Given the description of an element on the screen output the (x, y) to click on. 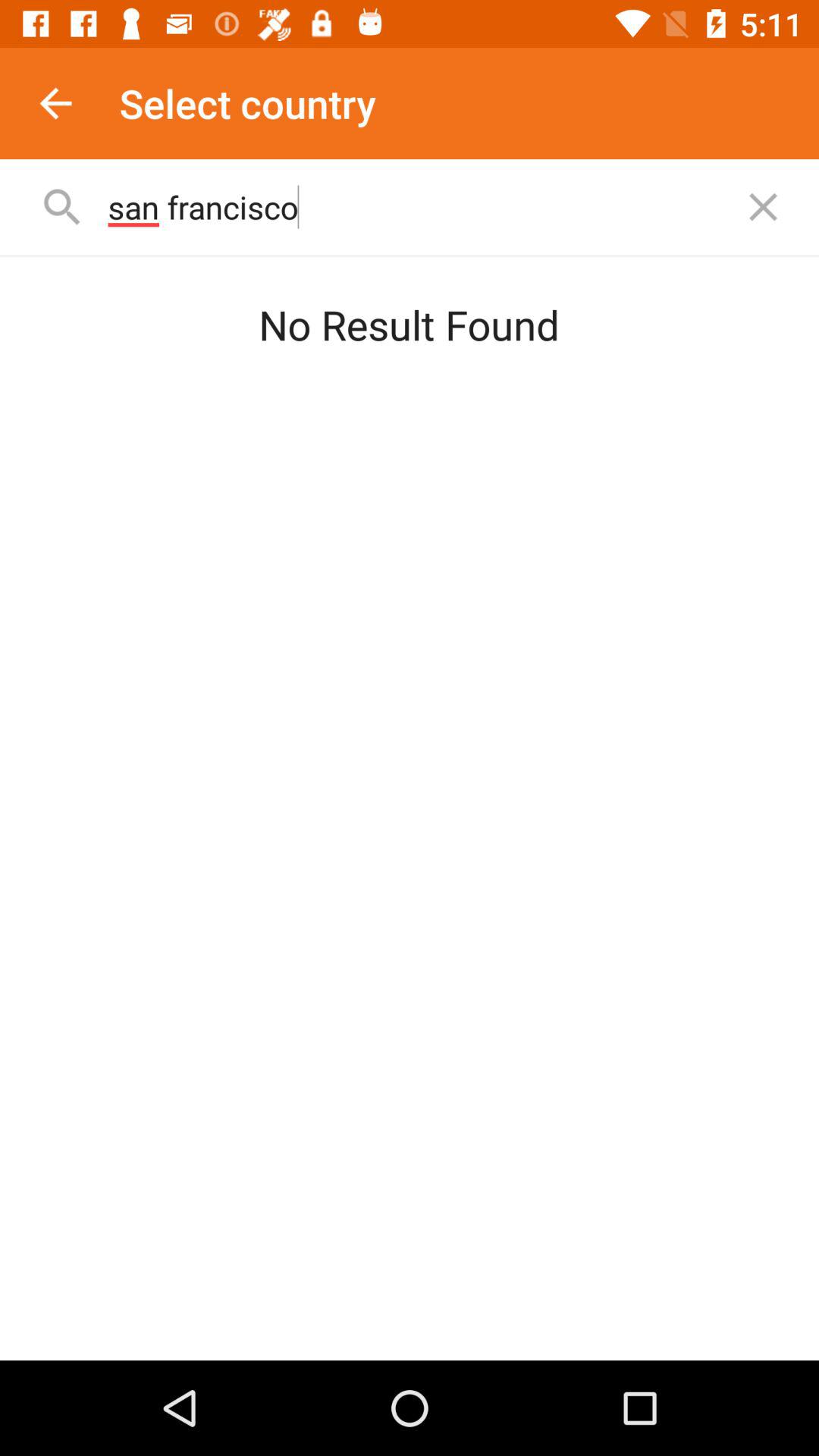
open icon to the right of the san francisco (763, 206)
